Given the description of an element on the screen output the (x, y) to click on. 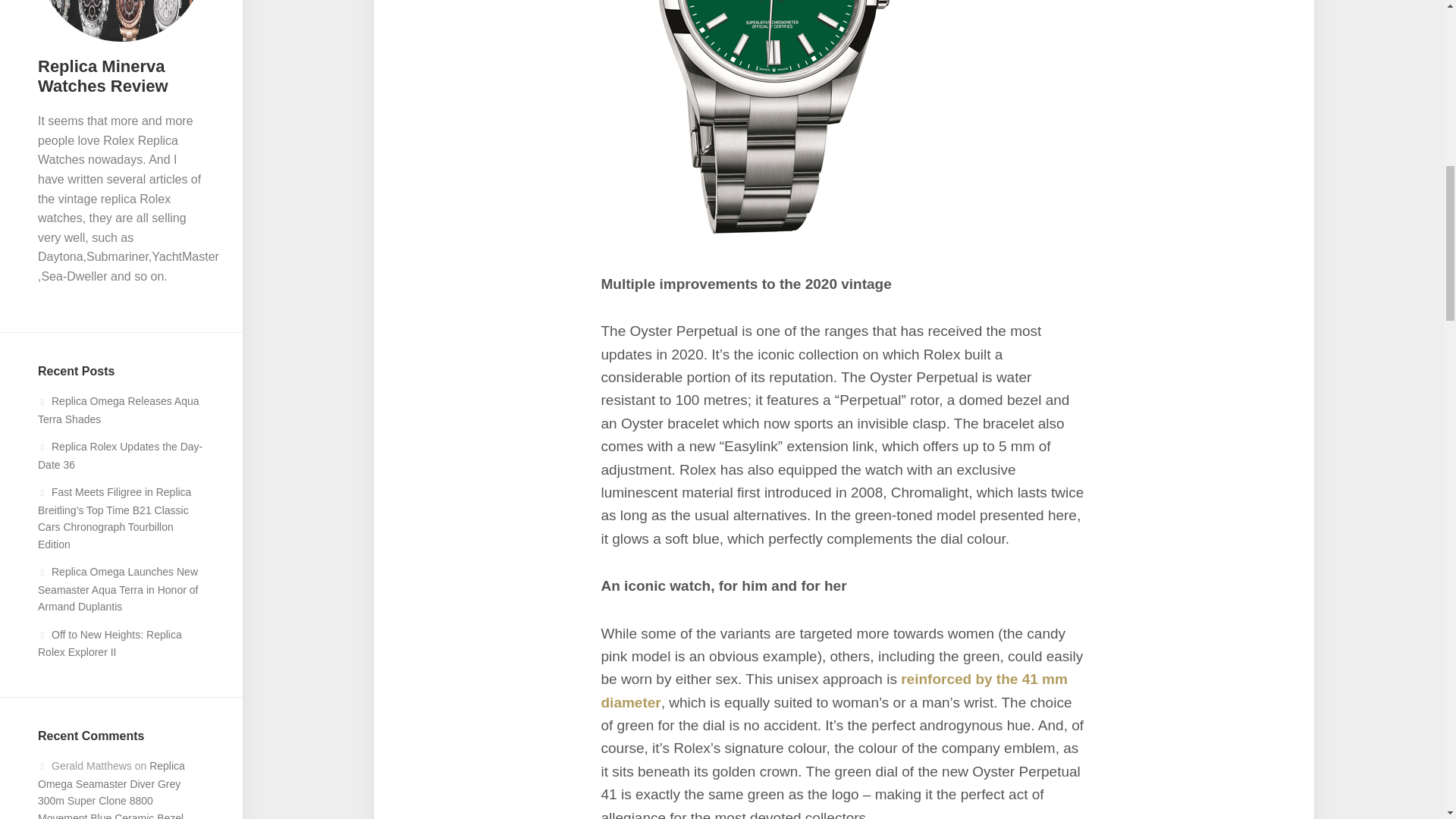
Replica Rolex Updates the Day-Date 36 (119, 455)
Off to New Heights: Replica Rolex Explorer II (109, 643)
Replica Omega Releases Aqua Terra Shades (118, 409)
